Given the description of an element on the screen output the (x, y) to click on. 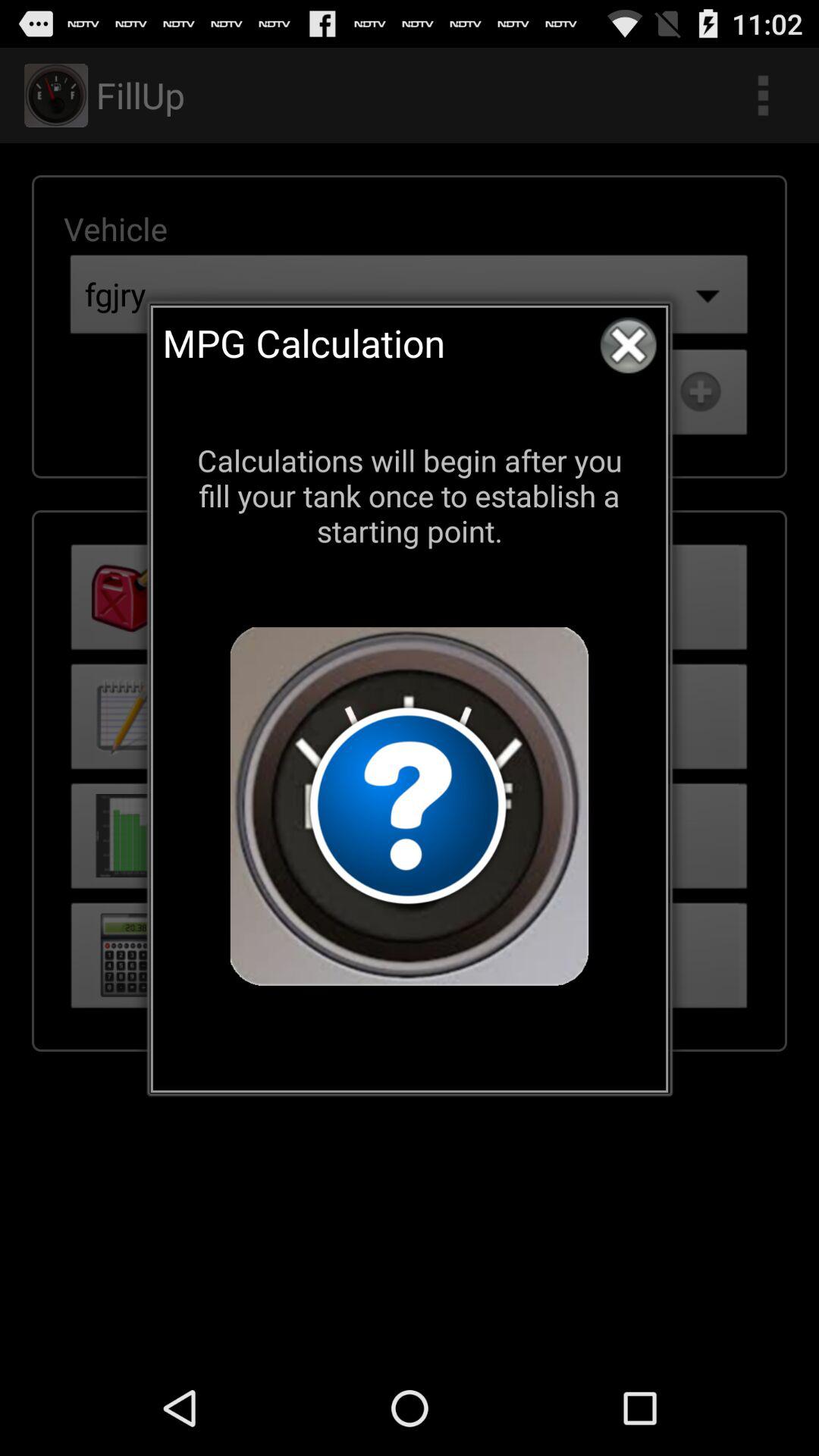
press the icon above the calculations will begin (628, 345)
